Given the description of an element on the screen output the (x, y) to click on. 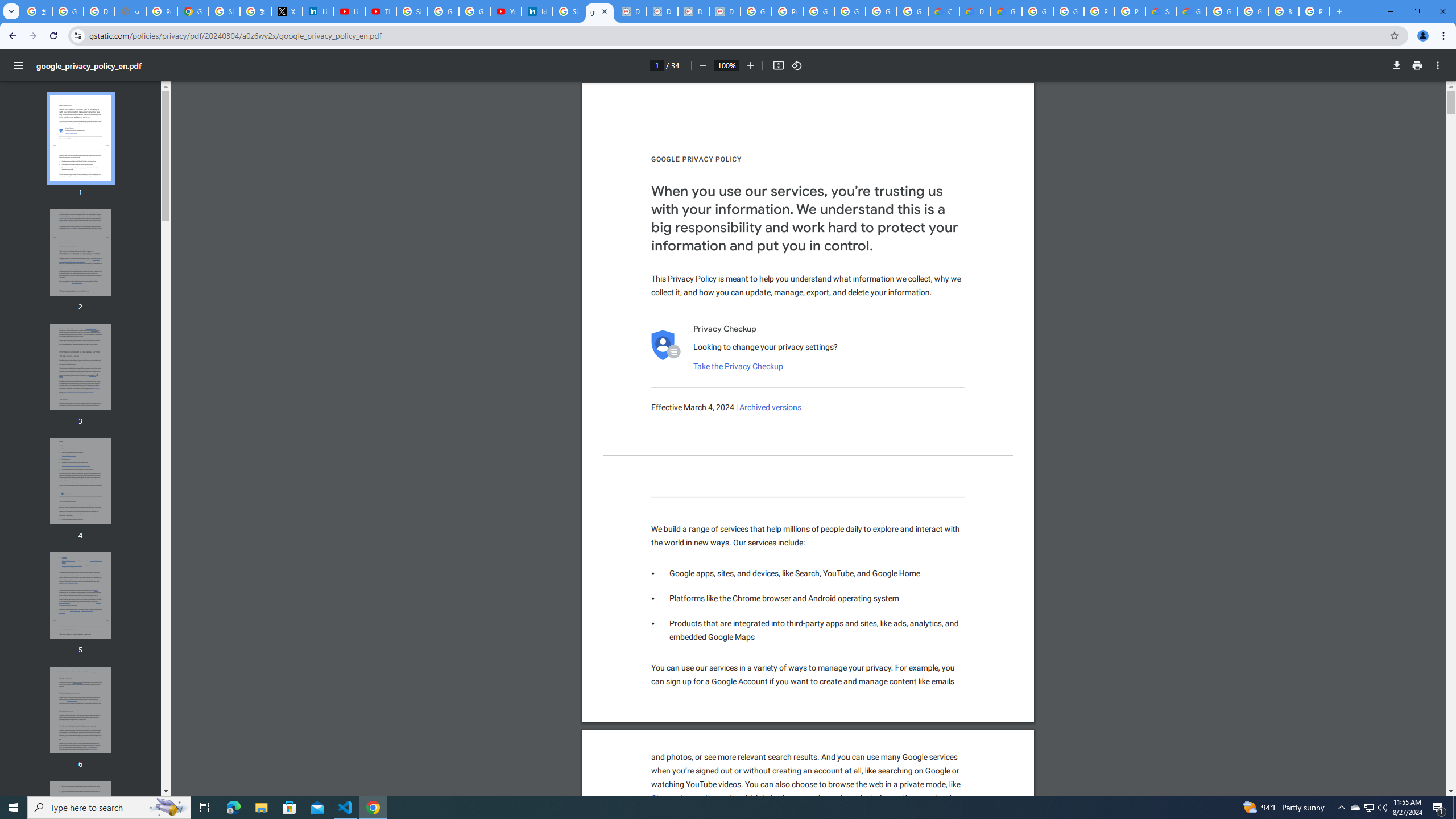
Google Cloud Platform (1222, 11)
Data Privacy Framework (631, 11)
Google Cloud Platform (1037, 11)
Zoom level (726, 64)
Rotate counterclockwise (796, 65)
Google Cloud Service Health (1190, 11)
Thumbnail for page 3 (80, 366)
